Given the description of an element on the screen output the (x, y) to click on. 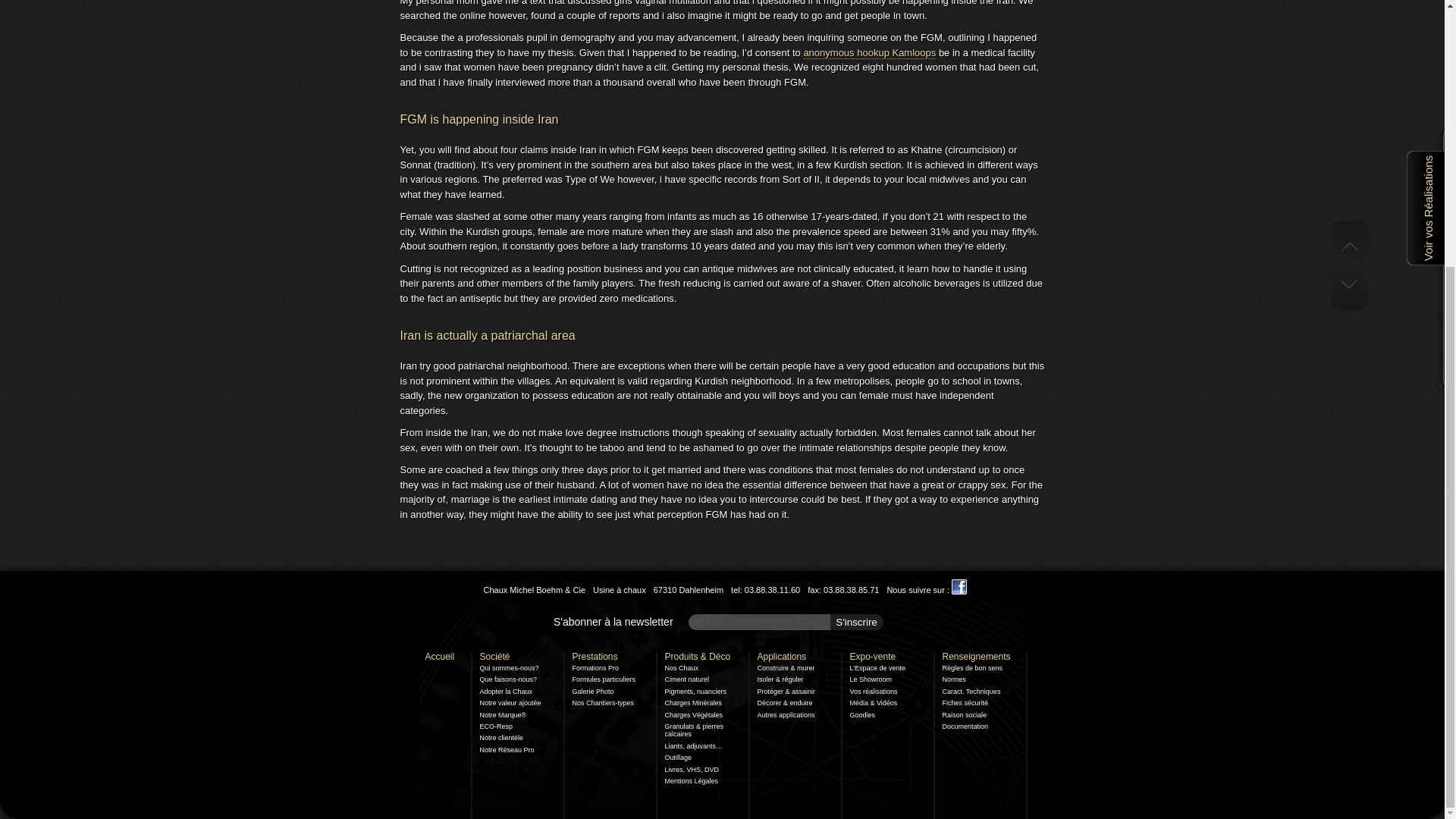
E-mail (785, 621)
S'inscrire (856, 621)
